Given the description of an element on the screen output the (x, y) to click on. 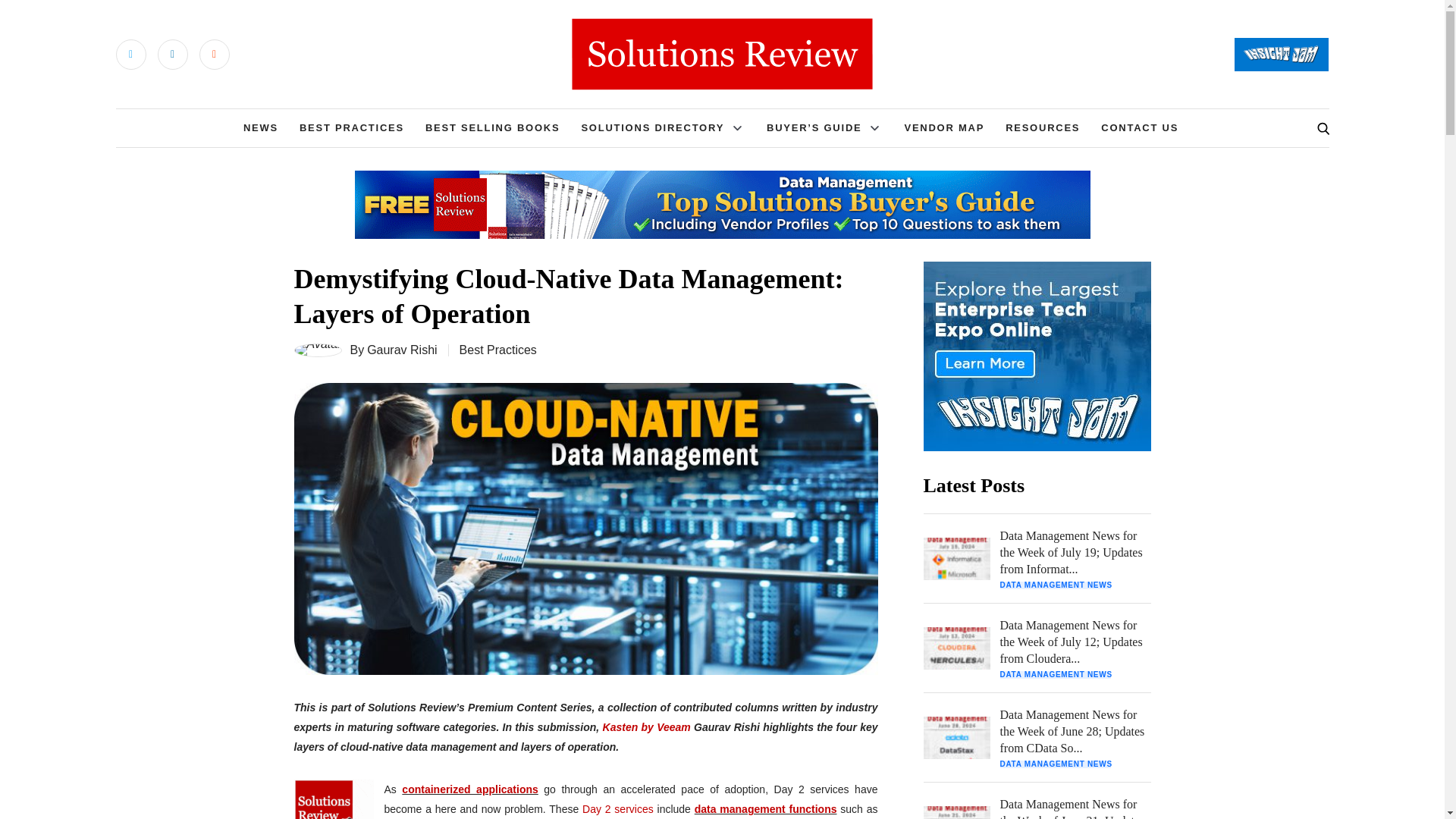
containerized applications (469, 788)
Best Practices (498, 349)
BEST SELLING BOOKS (492, 127)
Insight Jam Ad (1037, 356)
BEST PRACTICES (351, 127)
data management functions (765, 808)
Kasten by Veeam (646, 727)
CONTACT US (1138, 127)
RESOURCES (1043, 127)
VENDOR MAP (944, 127)
Day 2 services (617, 808)
NEWS (260, 127)
Gaurav Rishi (401, 350)
SOLUTIONS DIRECTORY (651, 127)
